Given the description of an element on the screen output the (x, y) to click on. 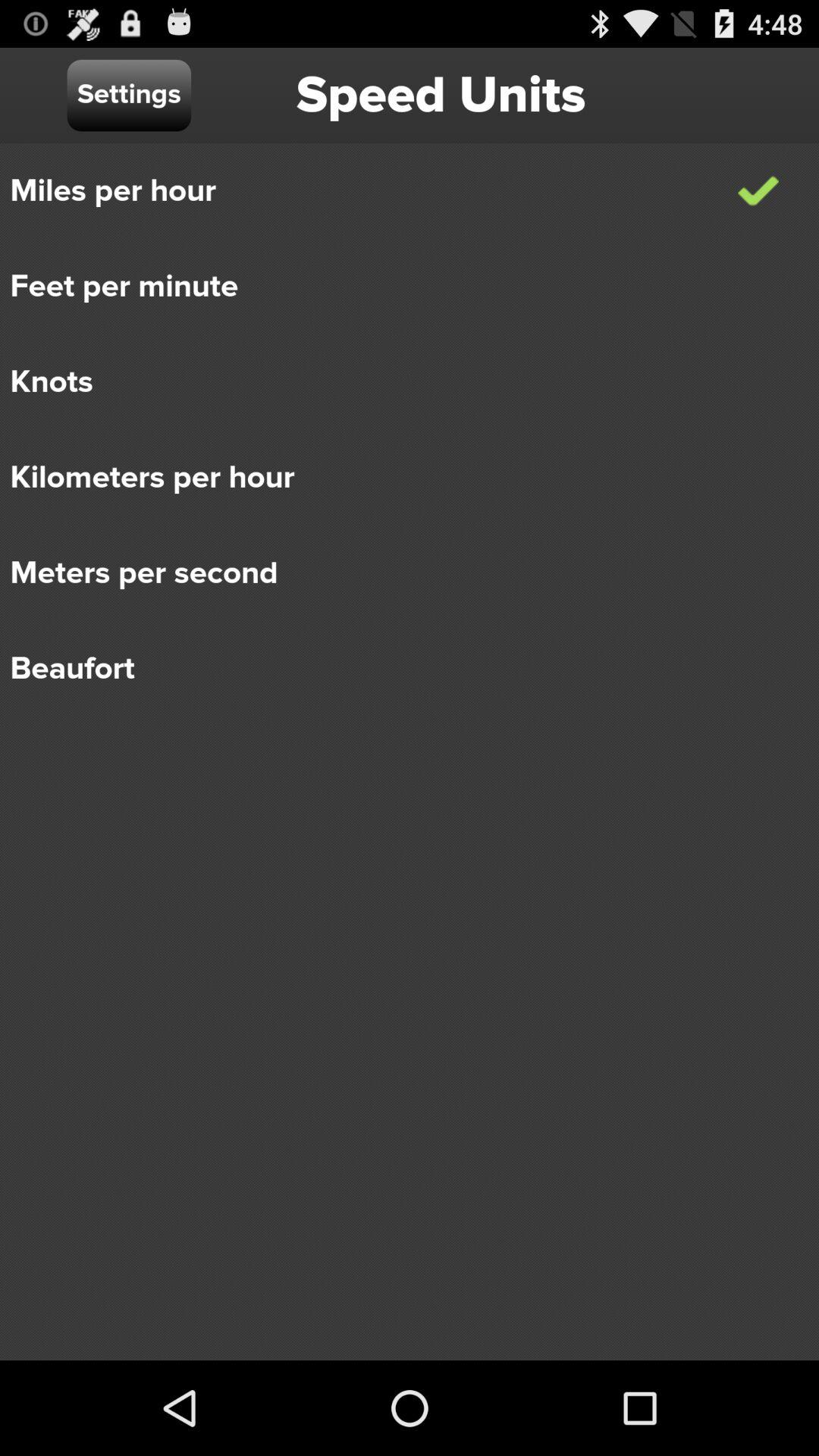
turn on item above the kilometers per hour (399, 381)
